Given the description of an element on the screen output the (x, y) to click on. 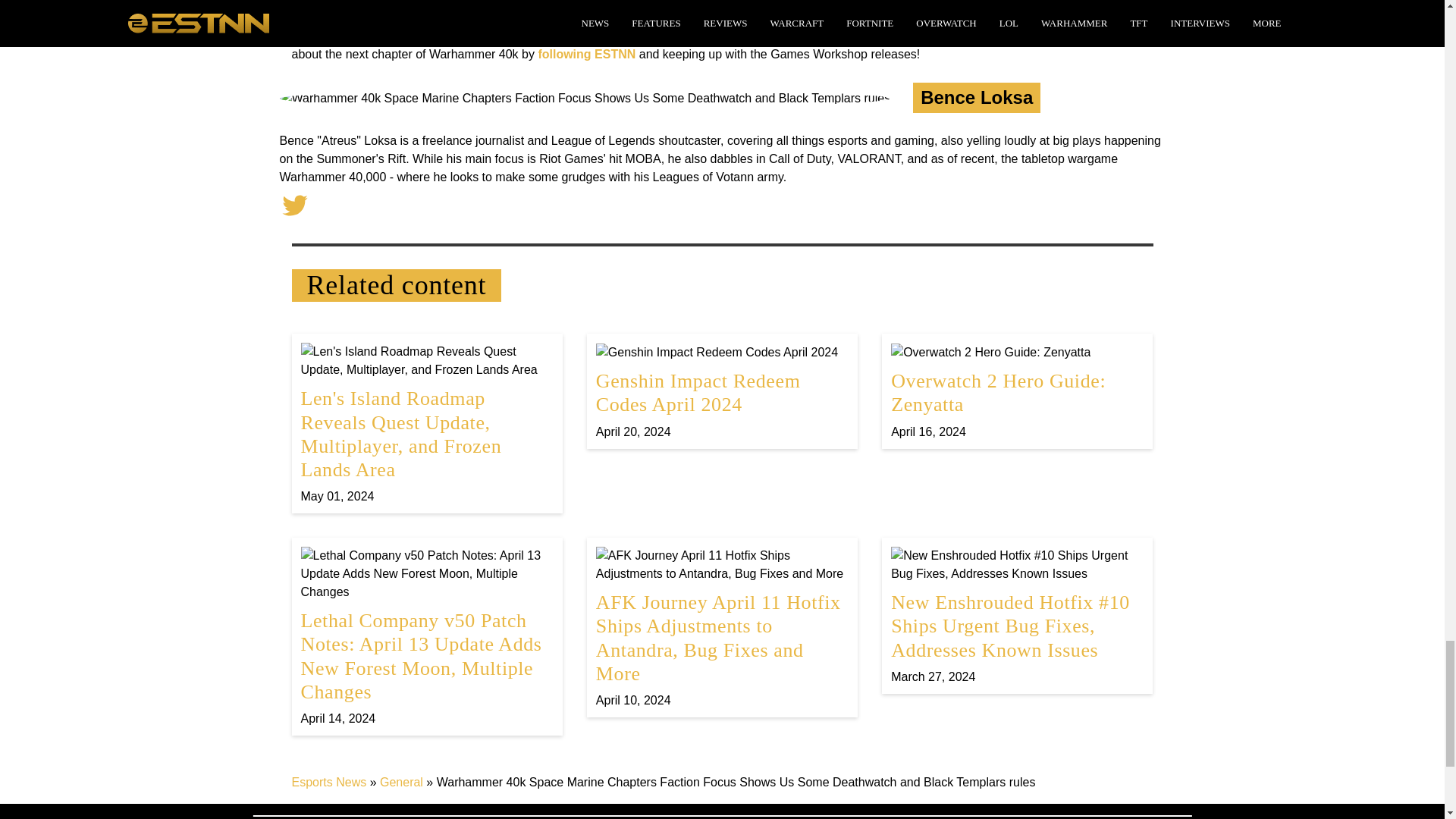
Genshin Impact Redeem Codes April 2024 (721, 390)
following ESTNN (585, 53)
Bence Loksa (976, 96)
Overwatch 2 Hero Guide: Zenyatta (1016, 390)
twitter Bence Loksa (293, 205)
Esports News (328, 781)
